Given the description of an element on the screen output the (x, y) to click on. 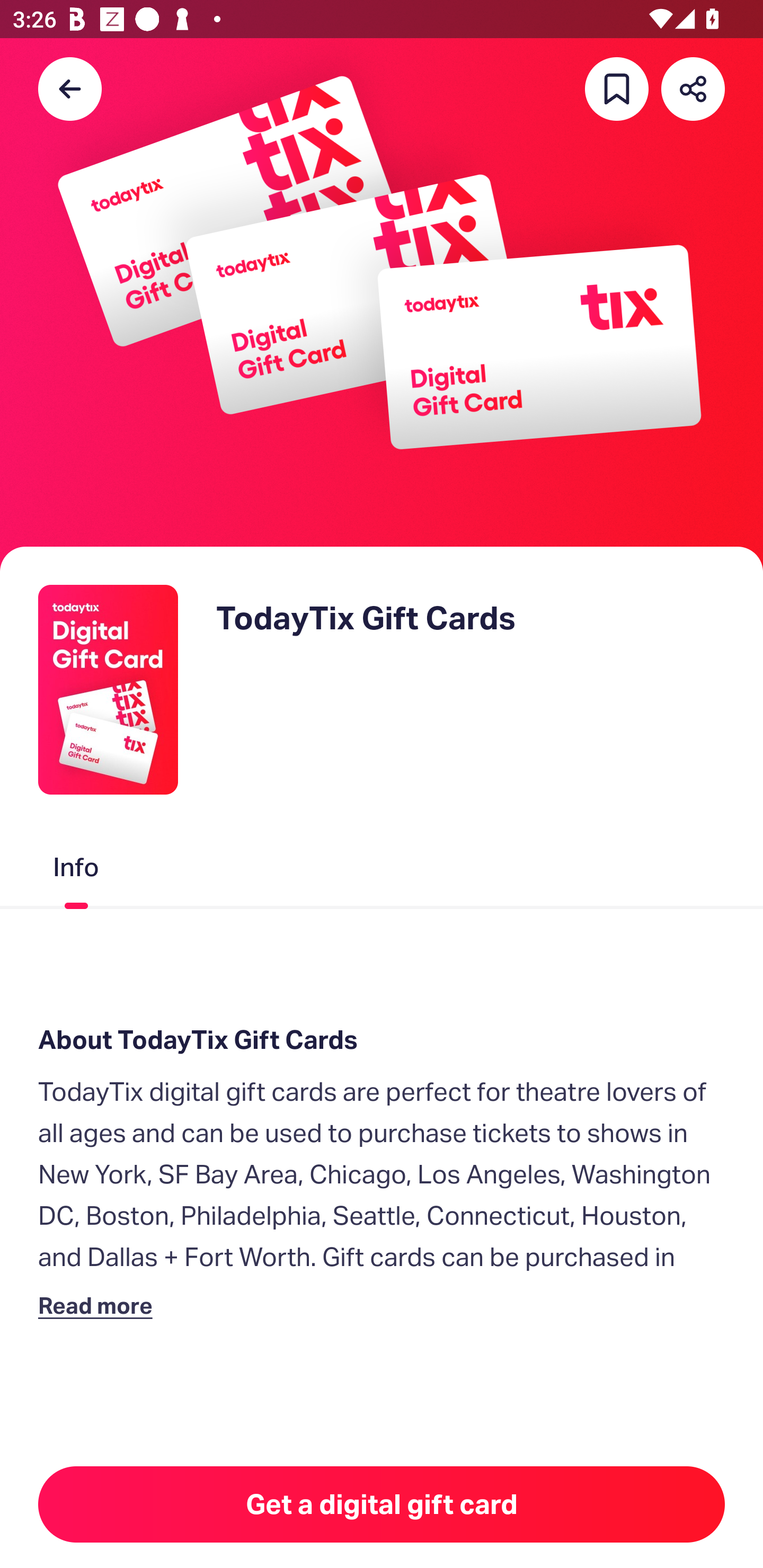
About TodayTix Gift Cards (381, 1039)
Read more (99, 1305)
Get a digital gift card (381, 1504)
